Given the description of an element on the screen output the (x, y) to click on. 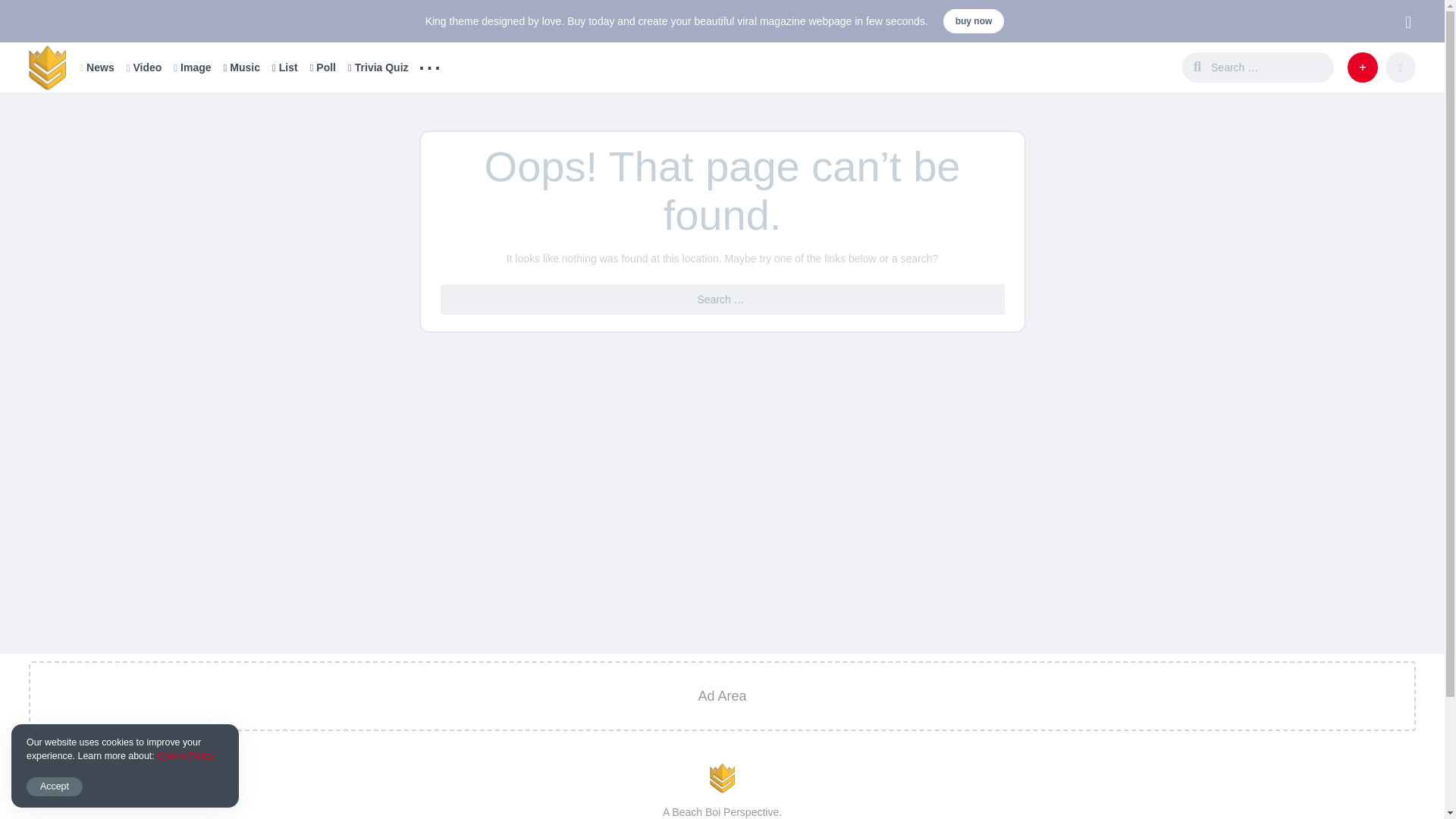
Search for: (1269, 67)
Trivia Quiz (378, 67)
List (285, 67)
Music (241, 67)
News (96, 67)
Image (191, 67)
buy now (973, 21)
Poll (323, 67)
Video (144, 67)
